Given the description of an element on the screen output the (x, y) to click on. 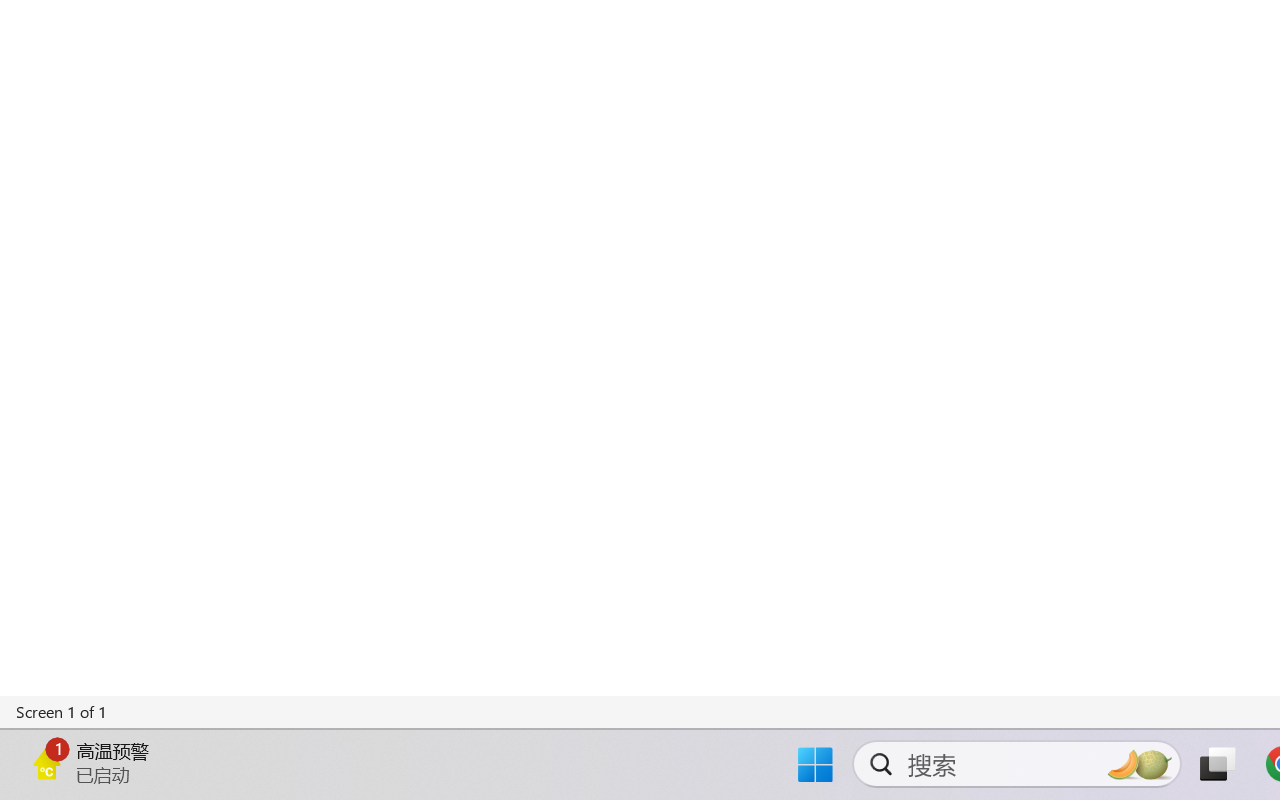
Page Number Screen 1 of 1  (62, 712)
